Given the description of an element on the screen output the (x, y) to click on. 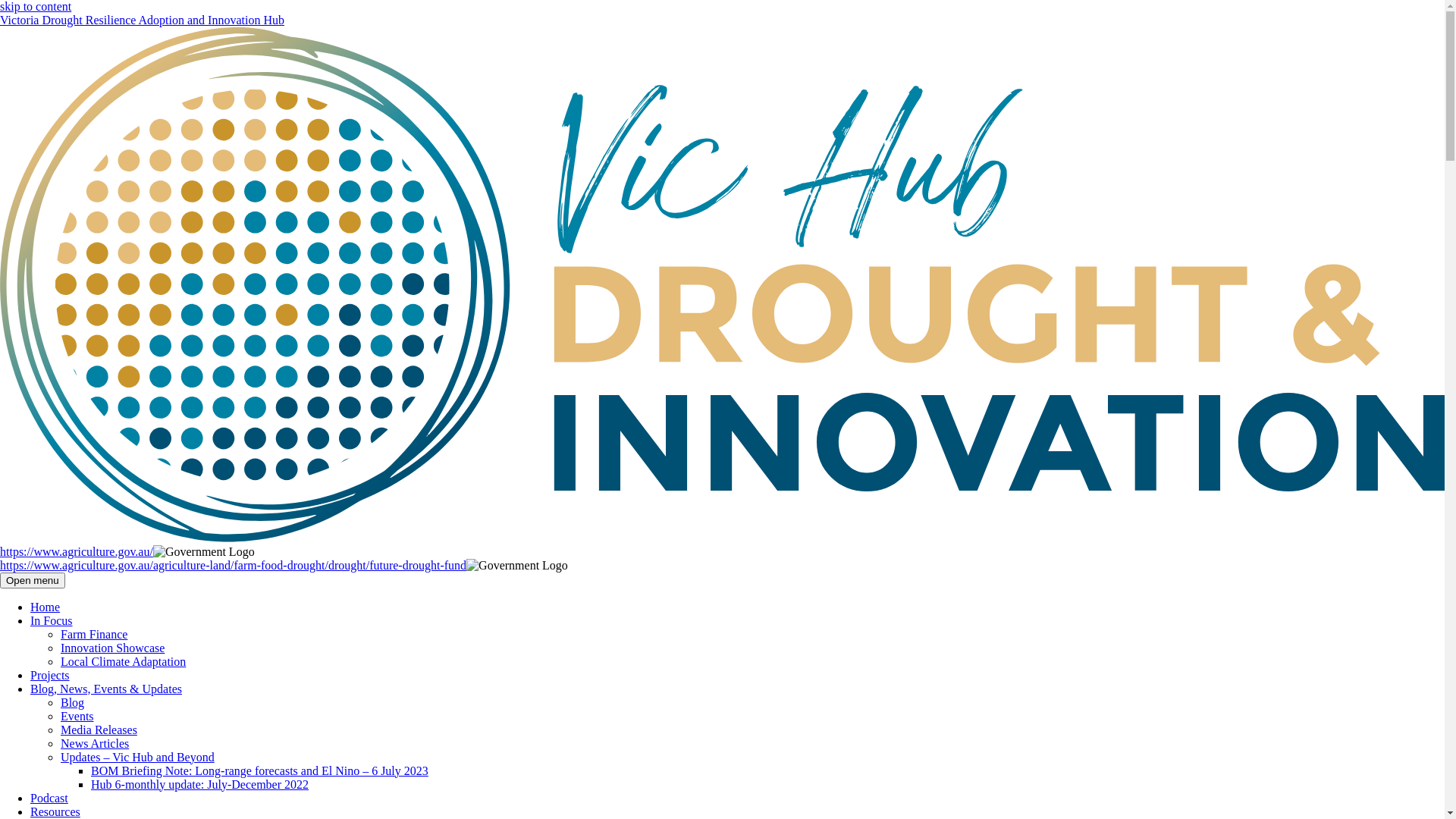
Hub 6-monthly update: July-December 2022 Element type: text (199, 784)
Blog Element type: text (72, 702)
skip to content Element type: text (35, 6)
In Focus Element type: text (51, 620)
Open menu Element type: text (32, 580)
News Articles Element type: text (94, 743)
Farm Finance Element type: text (93, 633)
Blog, News, Events & Updates Element type: text (106, 688)
Media Releases Element type: text (98, 729)
Podcast Element type: text (49, 797)
Local Climate Adaptation Element type: text (122, 661)
Projects Element type: text (49, 674)
https://www.agriculture.gov.au/ Element type: text (76, 551)
Events Element type: text (77, 715)
Innovation Showcase Element type: text (112, 647)
Resources Element type: text (55, 811)
Home Element type: text (44, 606)
